Given the description of an element on the screen output the (x, y) to click on. 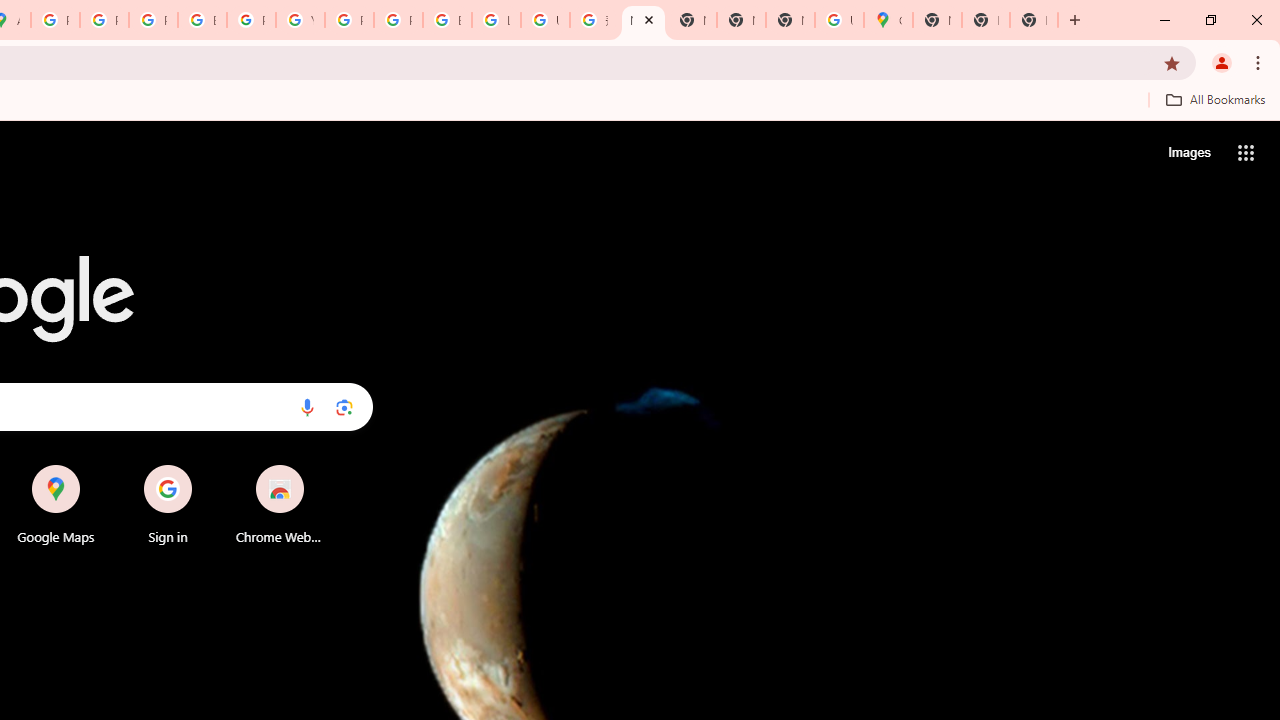
New Tab (1033, 20)
Remove (319, 466)
Google Maps (56, 504)
Privacy Help Center - Policies Help (104, 20)
New Tab (985, 20)
New Tab (790, 20)
